Given the description of an element on the screen output the (x, y) to click on. 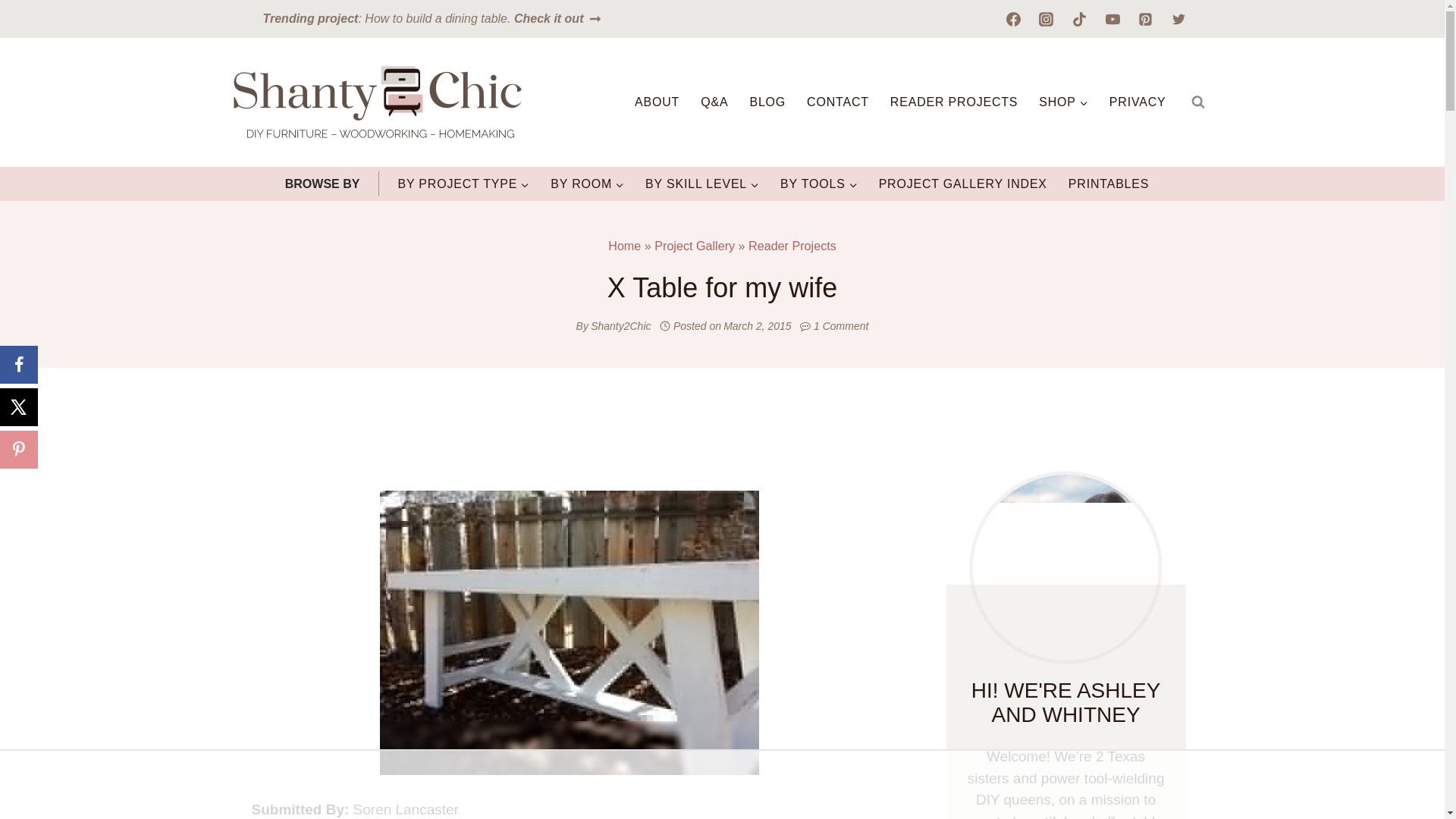
SHOP (1063, 101)
BY ROOM (587, 183)
CONTACT (837, 101)
BY PROJECT TYPE (463, 183)
Share on X (18, 406)
PRIVACY (1137, 101)
Trending project: How to build a dining table. Check it out (431, 18)
1 Comment (840, 326)
Save to Pinterest (18, 449)
Share on Facebook (18, 364)
